Given the description of an element on the screen output the (x, y) to click on. 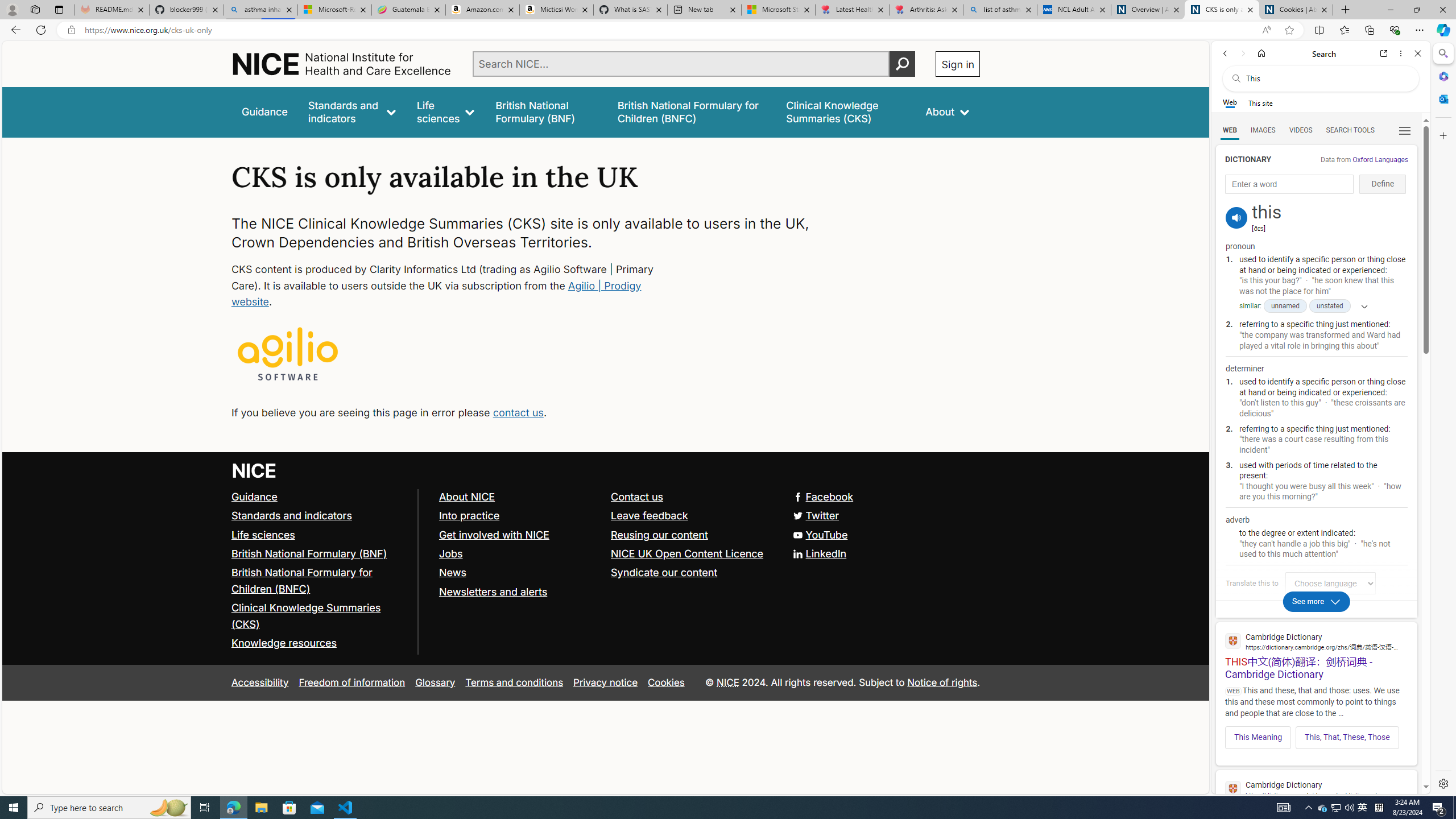
Leave feedback (649, 515)
Accessibility (259, 682)
CKS is only available in the UK | NICE (1221, 9)
YouTube (605, 534)
Glossary (434, 682)
About NICE (466, 496)
